Given the description of an element on the screen output the (x, y) to click on. 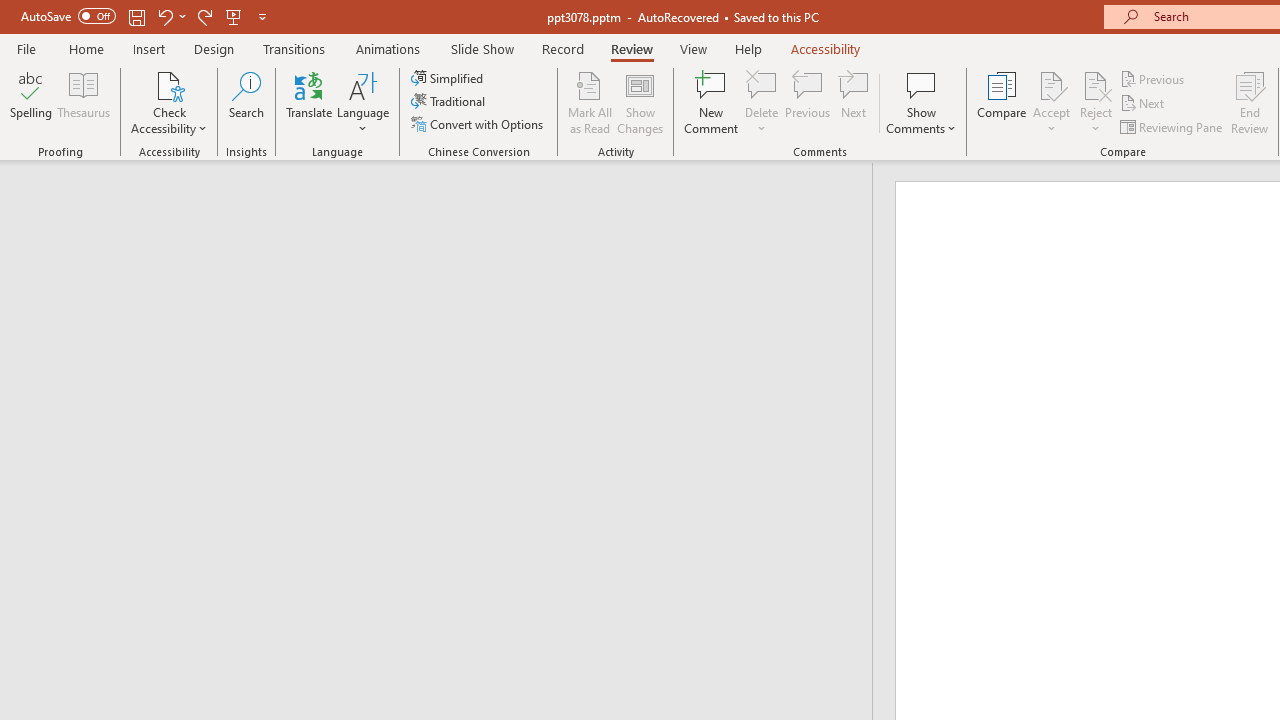
End Review (1249, 102)
Thesaurus... (83, 102)
New Comment (711, 102)
Convert with Options... (479, 124)
Reject (1096, 102)
